Given the description of an element on the screen output the (x, y) to click on. 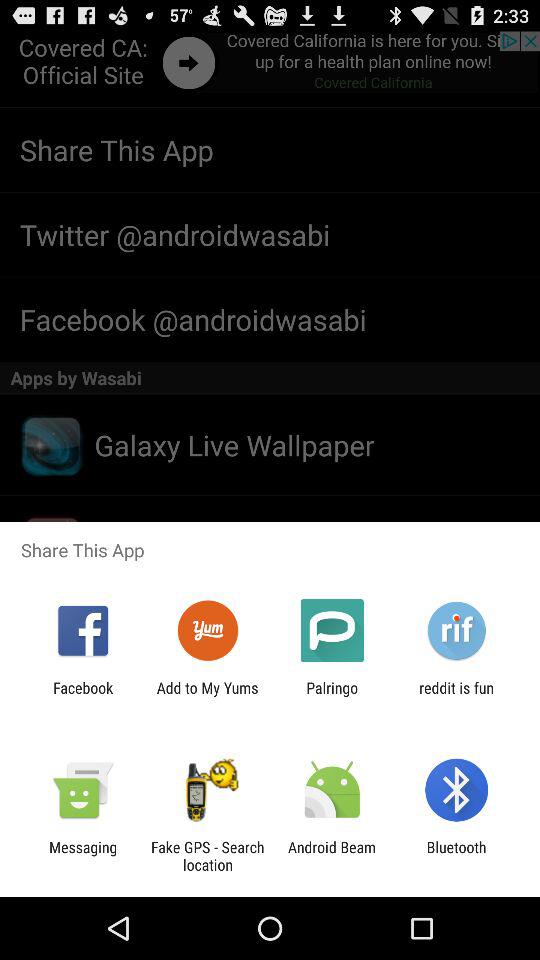
turn on the icon next to the facebook (207, 696)
